Given the description of an element on the screen output the (x, y) to click on. 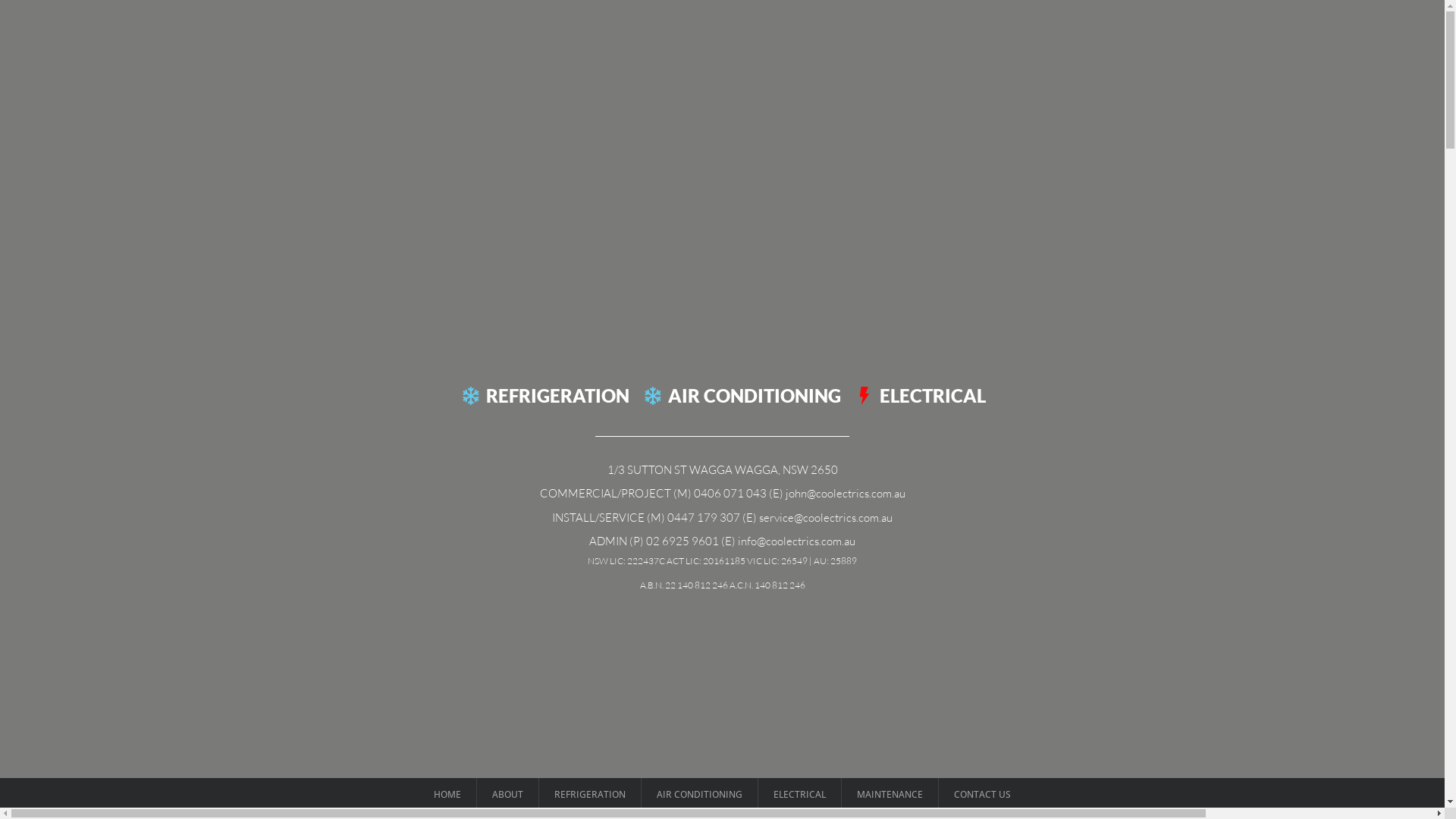
AIR CONDITIONING Element type: text (699, 794)
CONTACT US Element type: text (982, 794)
ELECTRICAL Element type: text (799, 794)
ABOUT Element type: text (507, 794)
REFRIGERATION Element type: text (589, 794)
MAINTENANCE Element type: text (889, 794)
HOME Element type: text (447, 794)
